Given the description of an element on the screen output the (x, y) to click on. 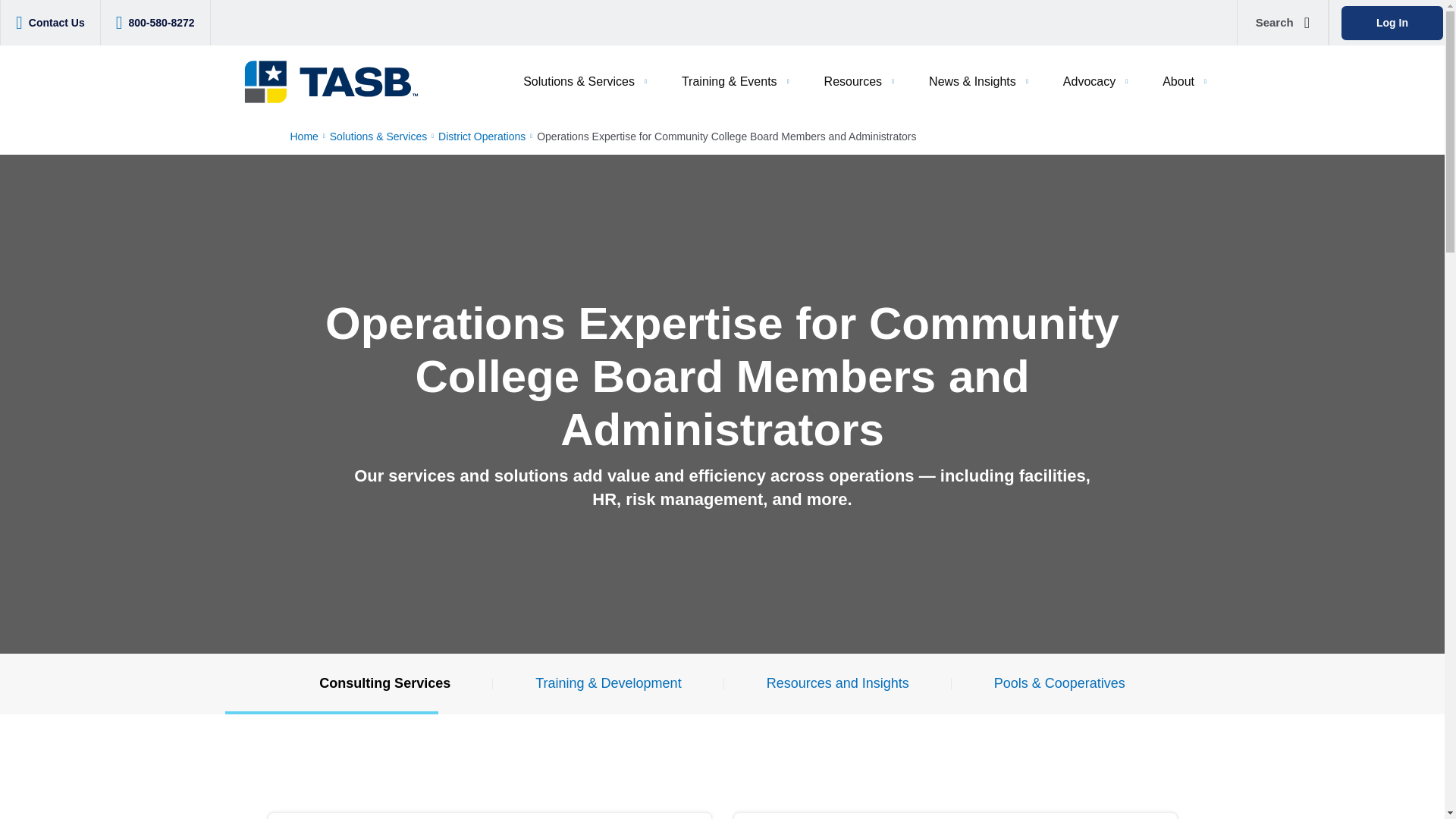
Advocacy (1096, 81)
Resources (860, 81)
Contact Us (56, 23)
Search (1281, 22)
800-580-8272 (160, 23)
Log In (1391, 22)
